Given the description of an element on the screen output the (x, y) to click on. 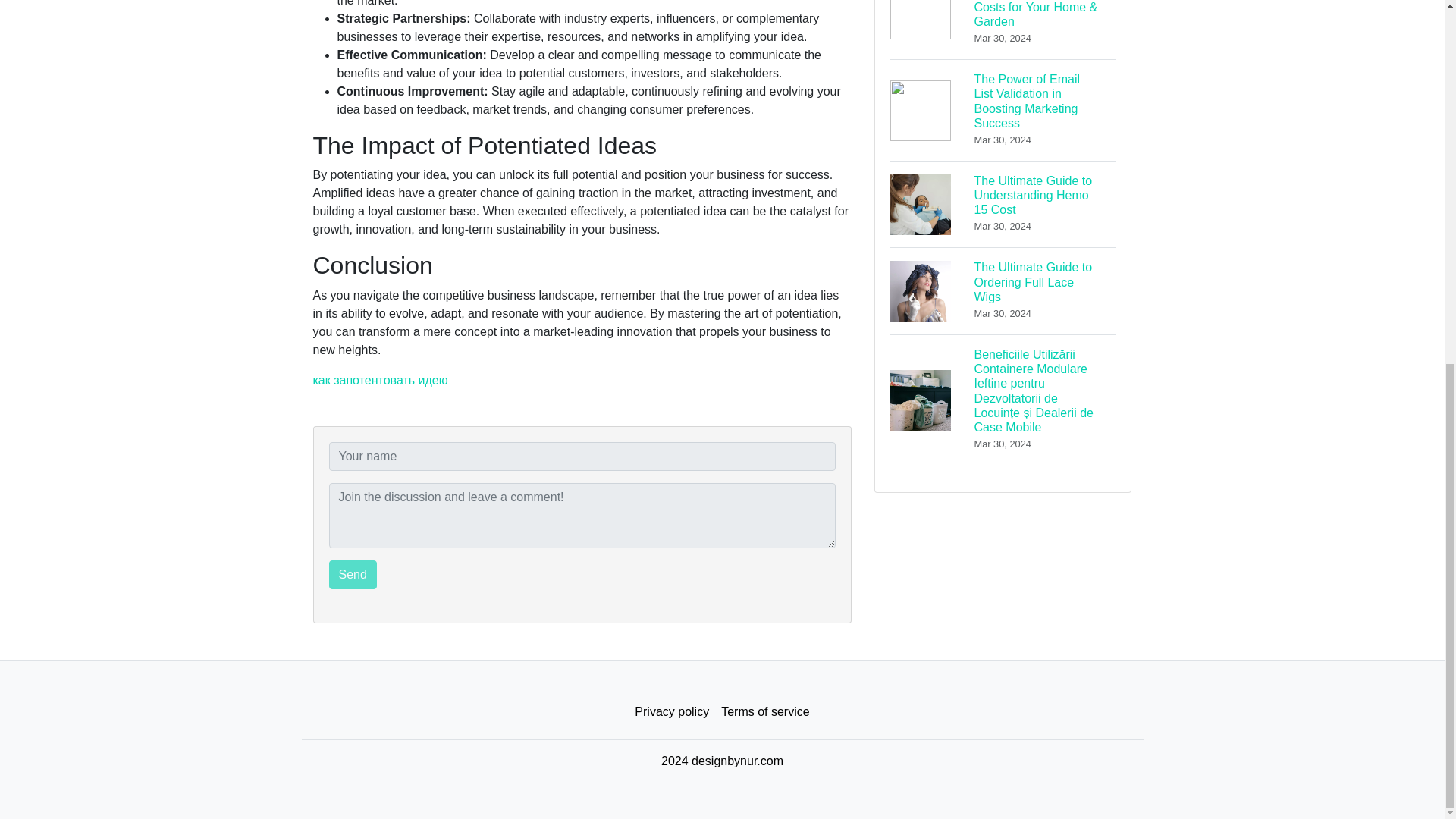
Send (353, 574)
Privacy policy (671, 711)
Send (1002, 290)
Terms of service (353, 574)
